Given the description of an element on the screen output the (x, y) to click on. 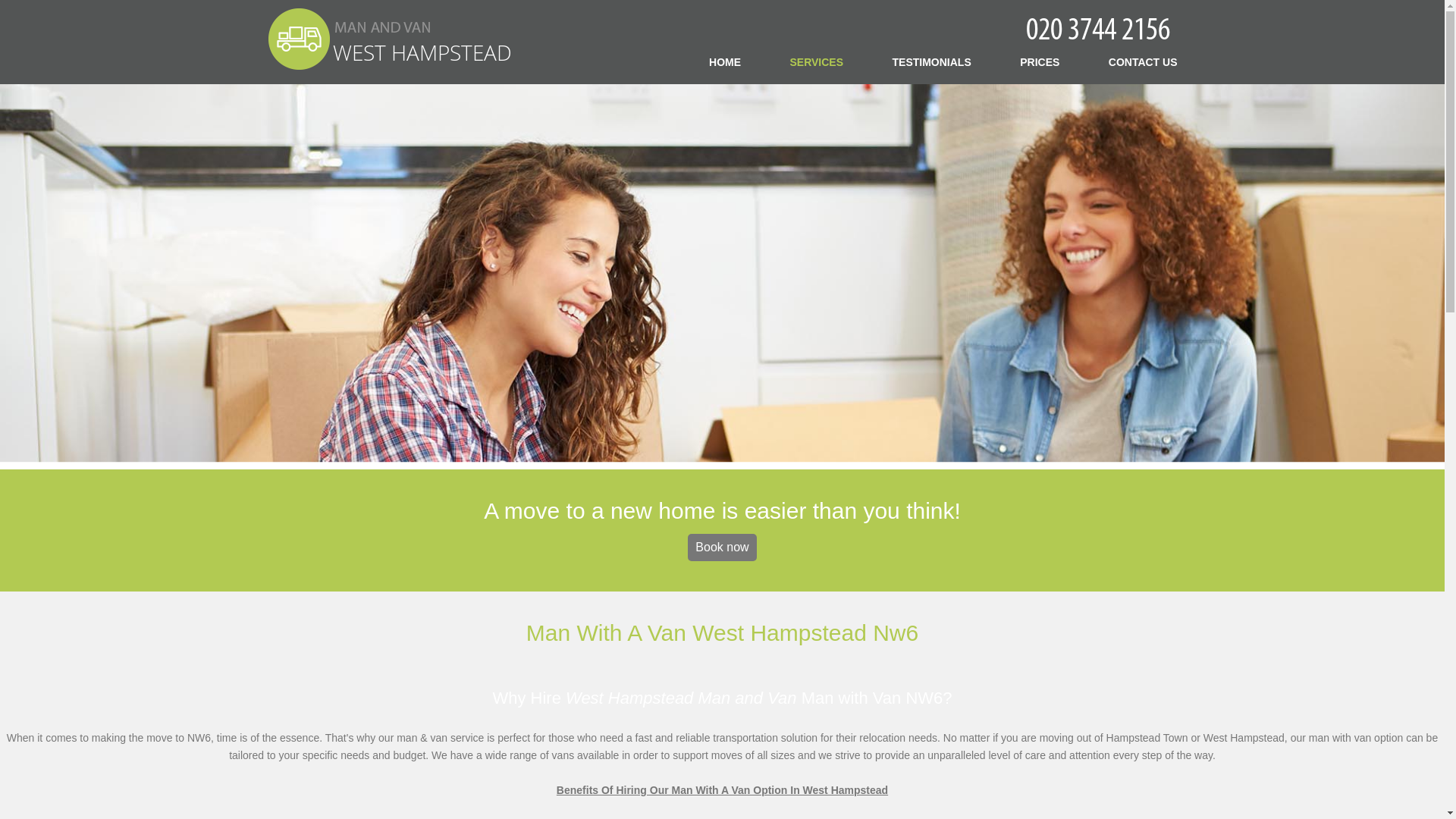
TESTIMONIALS (931, 61)
CONTACT US (1142, 61)
HOME (725, 61)
SERVICES (817, 61)
Book now (721, 547)
PRICES (1039, 61)
Call Now! (1100, 27)
